Given the description of an element on the screen output the (x, y) to click on. 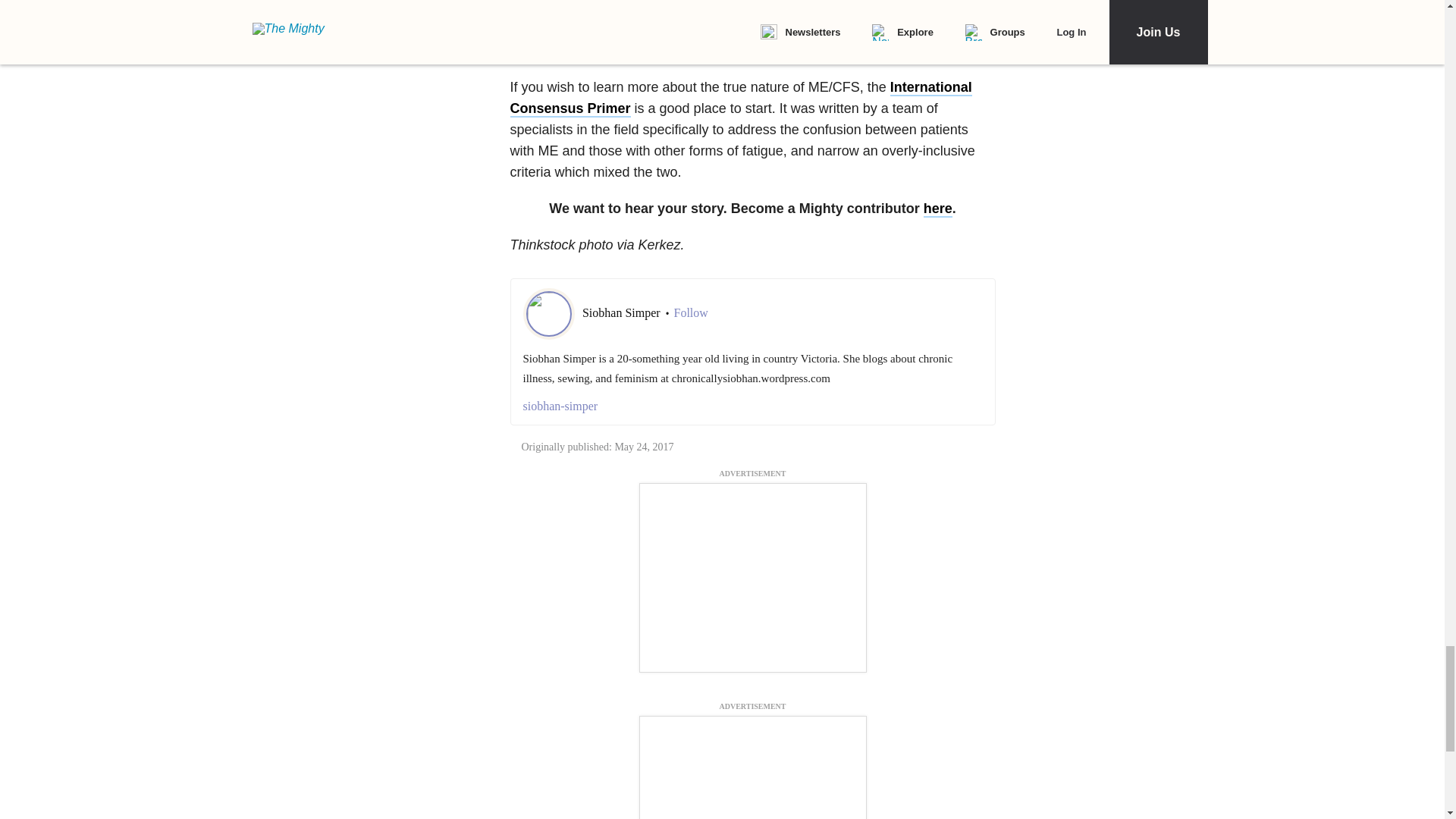
International Consensus Primer (740, 98)
travel photographer (925, 42)
here (937, 208)
Whitney Dafoe (590, 42)
